Given the description of an element on the screen output the (x, y) to click on. 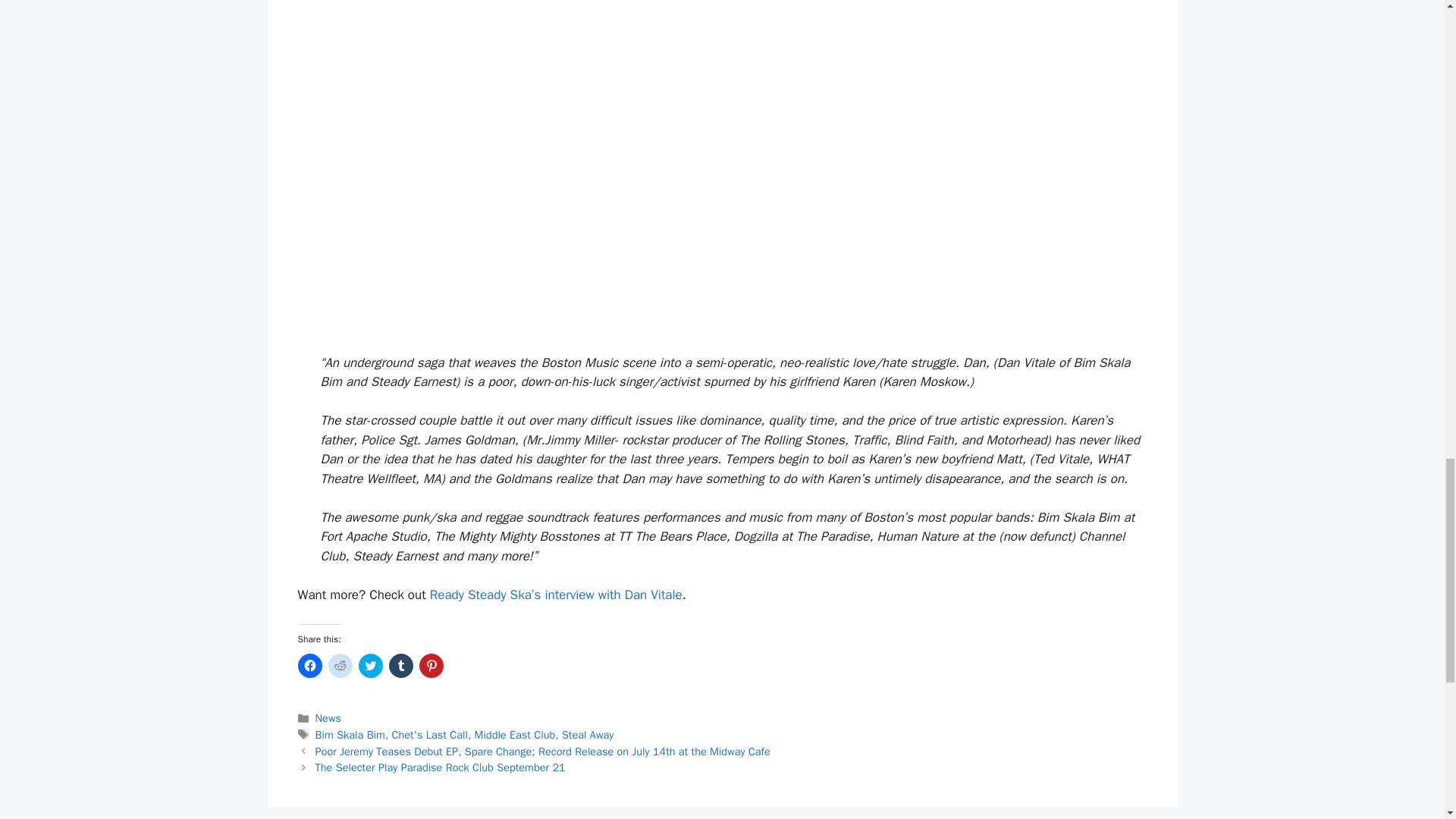
Click to share on Tumblr (400, 665)
Chet's Last Call (429, 735)
Middle East Club (515, 735)
Click to share on Twitter (369, 665)
Click to share on Facebook (309, 665)
Bim Skala Bim (350, 735)
Click to share on Reddit (339, 665)
Steal Away (587, 735)
News (327, 717)
Click to share on Pinterest (430, 665)
The Selecter Play Paradise Rock Club September 21 (440, 766)
